Given the description of an element on the screen output the (x, y) to click on. 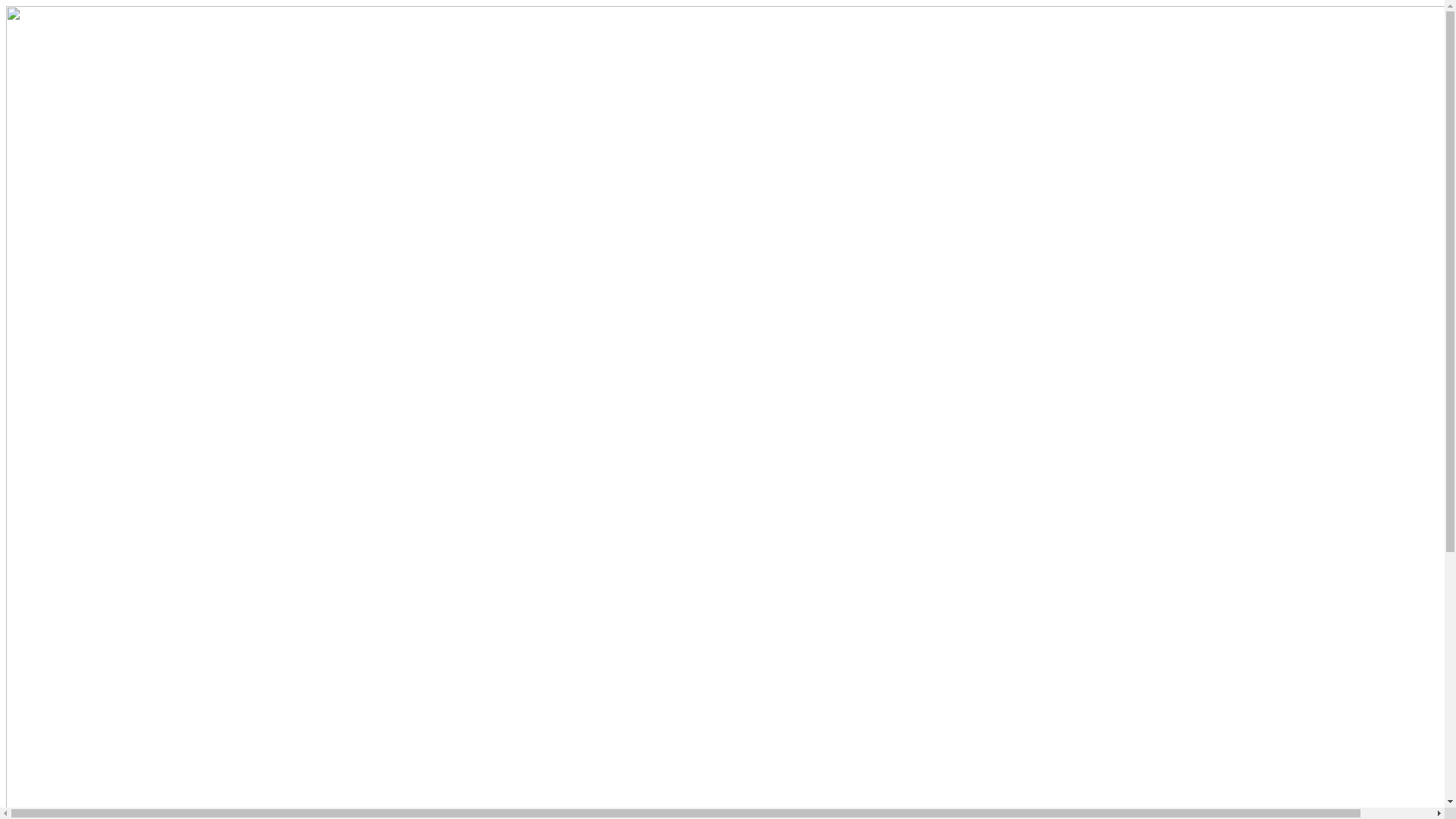
Skip to content Element type: text (5, 5)
